Given the description of an element on the screen output the (x, y) to click on. 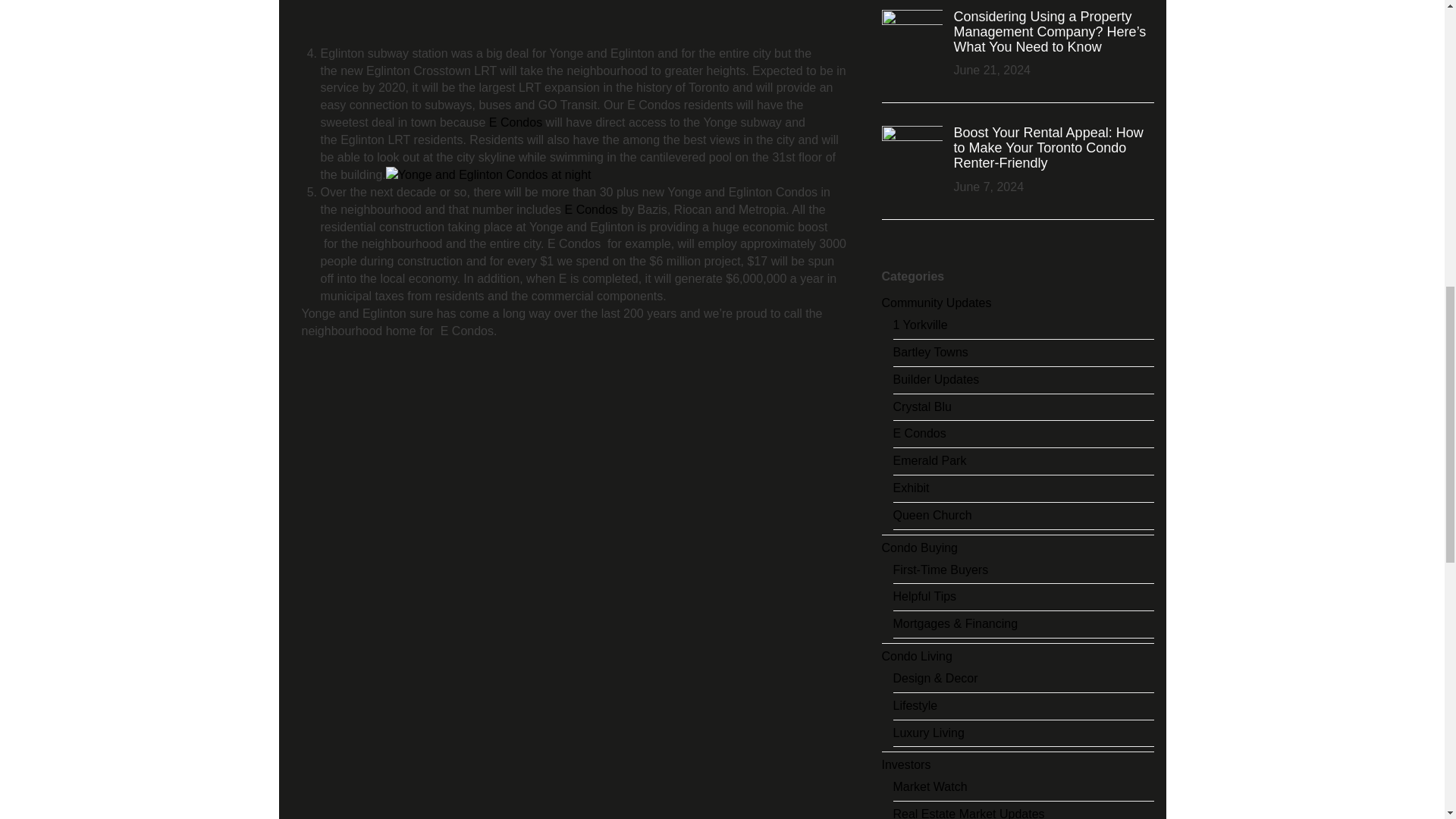
9563-1.jpg (543, 22)
20130318-Eglinton-Full2.jpg (488, 175)
